Given the description of an element on the screen output the (x, y) to click on. 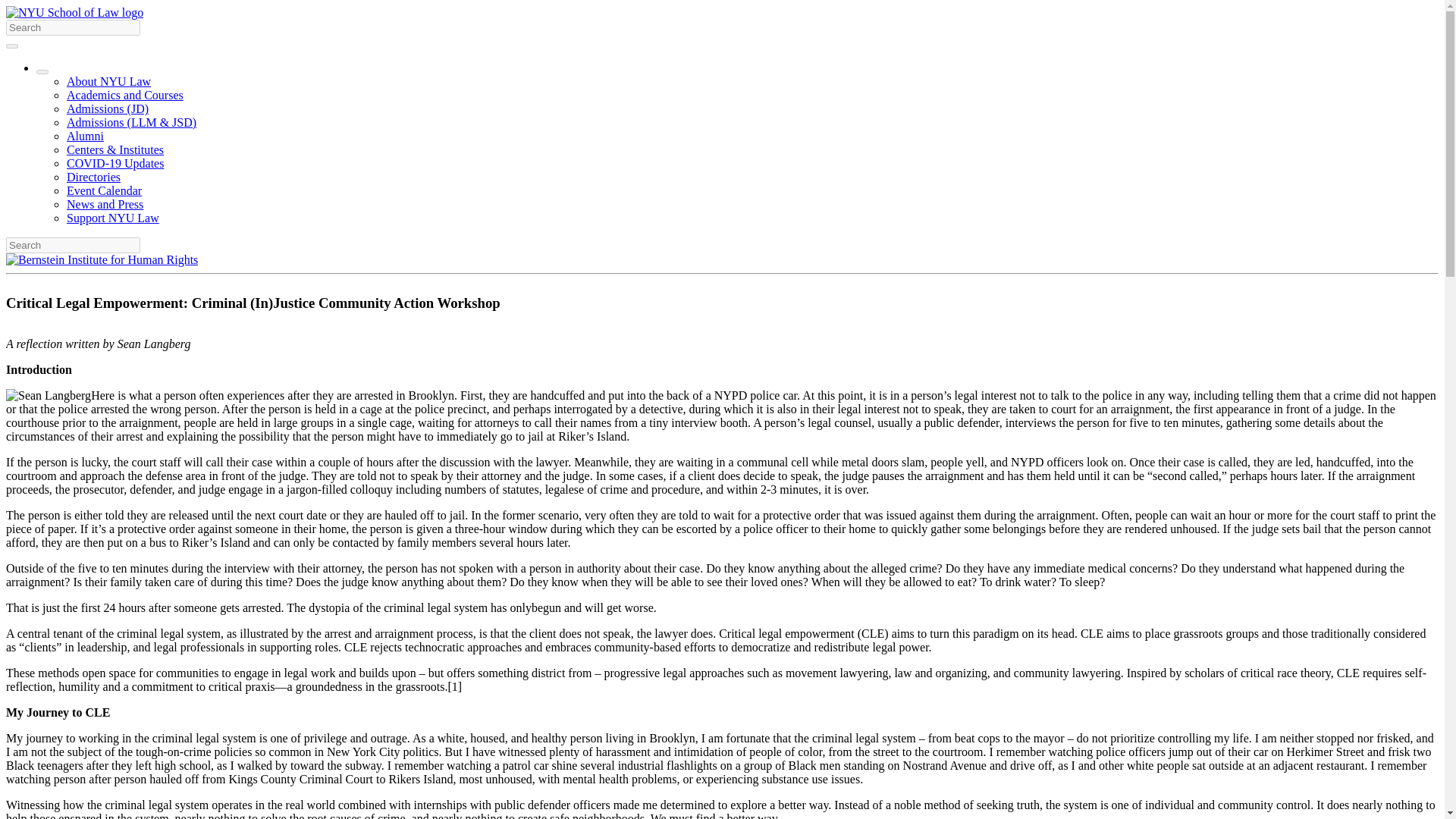
COVID-19 Updates (114, 163)
Support NYU Law (112, 217)
Event Calendar (103, 190)
Alumni (84, 135)
Directories (93, 176)
News and Press (104, 204)
Home (73, 11)
Academics and Courses (124, 94)
About NYU Law (108, 81)
